Given the description of an element on the screen output the (x, y) to click on. 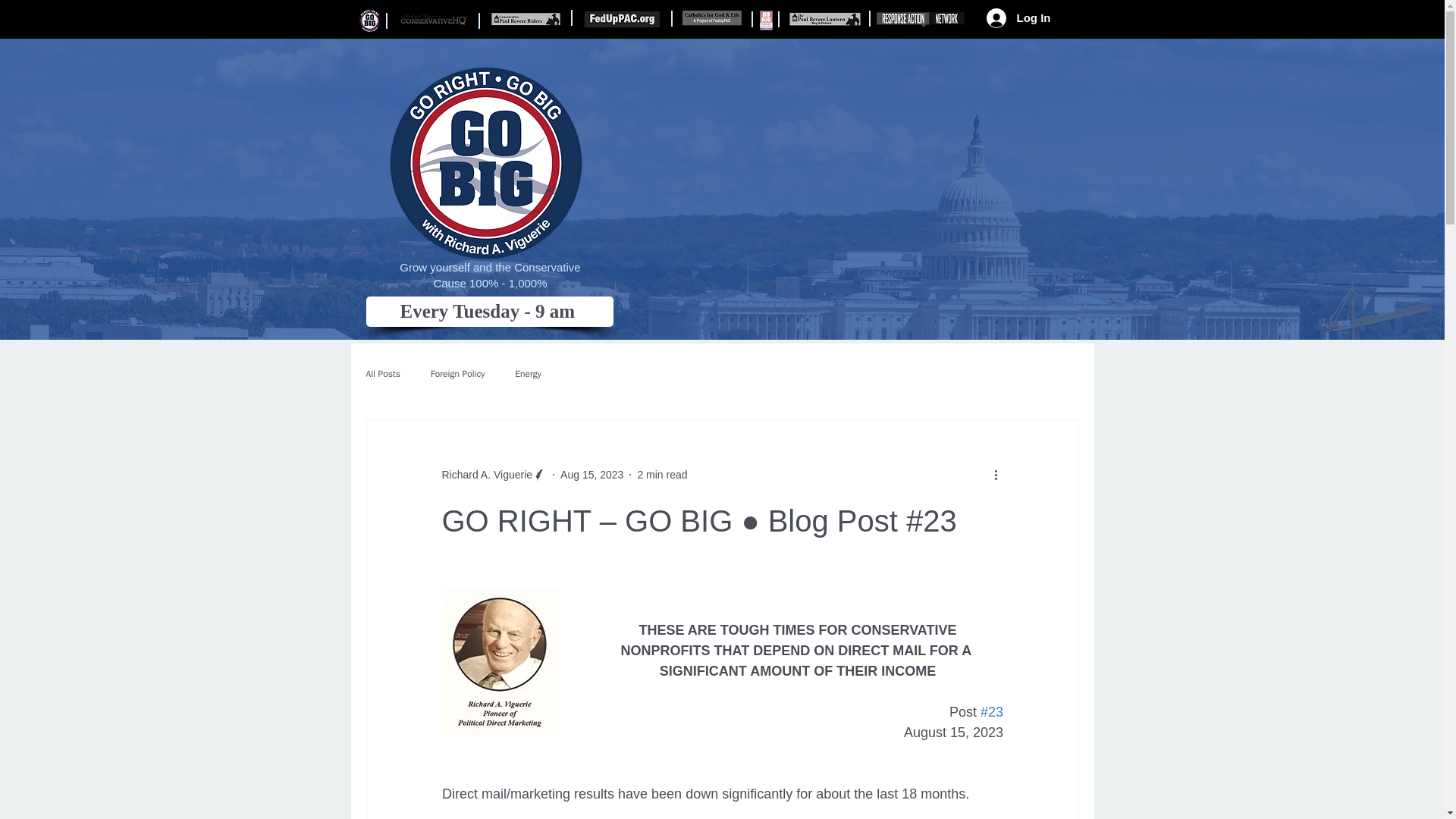
RAN-grayscale.png (922, 19)
Energy (528, 373)
Log In (1018, 17)
Aug 15, 2023 (591, 474)
2 min read (662, 474)
All Posts (382, 373)
Richard A. Viguerie (494, 474)
Richard A. Viguerie (486, 474)
Foreign Policy (457, 373)
